Given the description of an element on the screen output the (x, y) to click on. 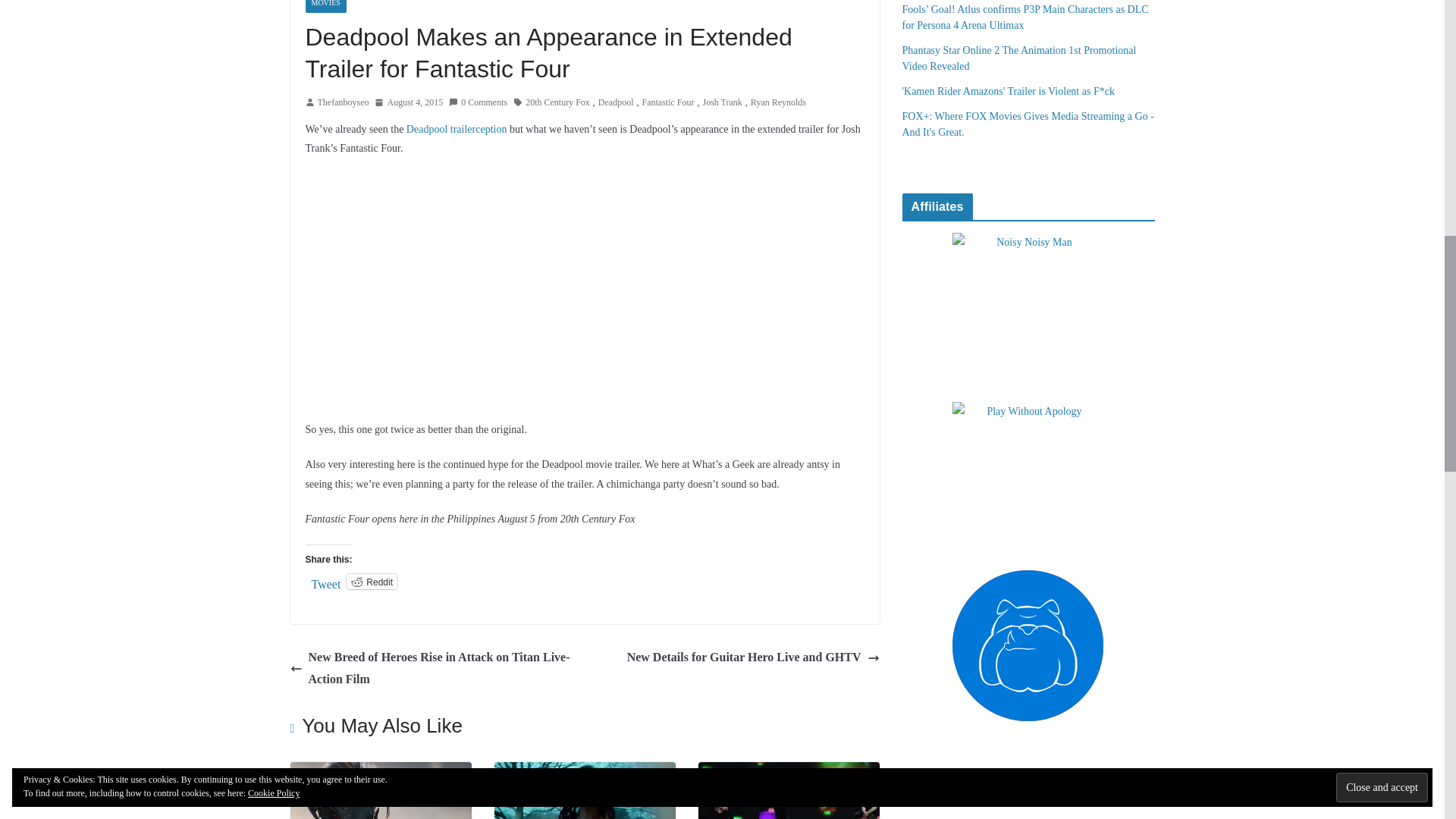
3:01 pm (408, 103)
Josh Trank (721, 103)
Ryan Reynolds (778, 103)
Click to share on Reddit (371, 581)
0 Comments (477, 103)
Fantastic Four (668, 103)
20th Century Fox (557, 103)
Deadpool (615, 103)
Tweet (325, 581)
Thefanboyseo (342, 103)
Thefanboyseo (342, 103)
Deadpool trailerception (456, 129)
MOVIES (325, 6)
August 4, 2015 (408, 103)
Ultron Hell-Bent on Human Extinction in Avengers Sequel (379, 771)
